Given the description of an element on the screen output the (x, y) to click on. 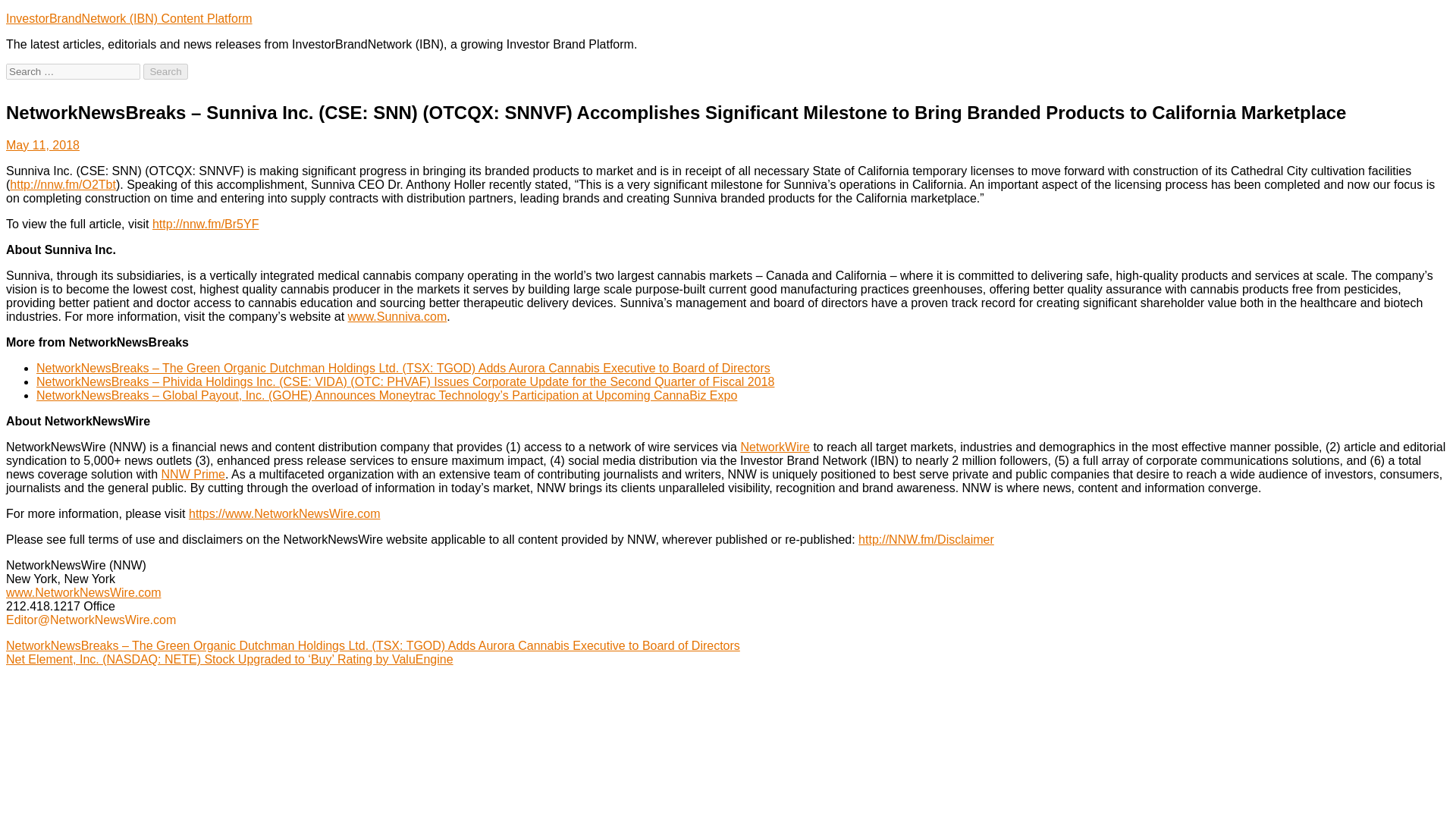
www.NetworkNewsWire.com (82, 592)
Search (164, 71)
NNW Prime (193, 473)
May 11, 2018 (42, 144)
Search (164, 71)
NetworkWire (774, 446)
www.Sunniva.com (396, 316)
Search (164, 71)
